Given the description of an element on the screen output the (x, y) to click on. 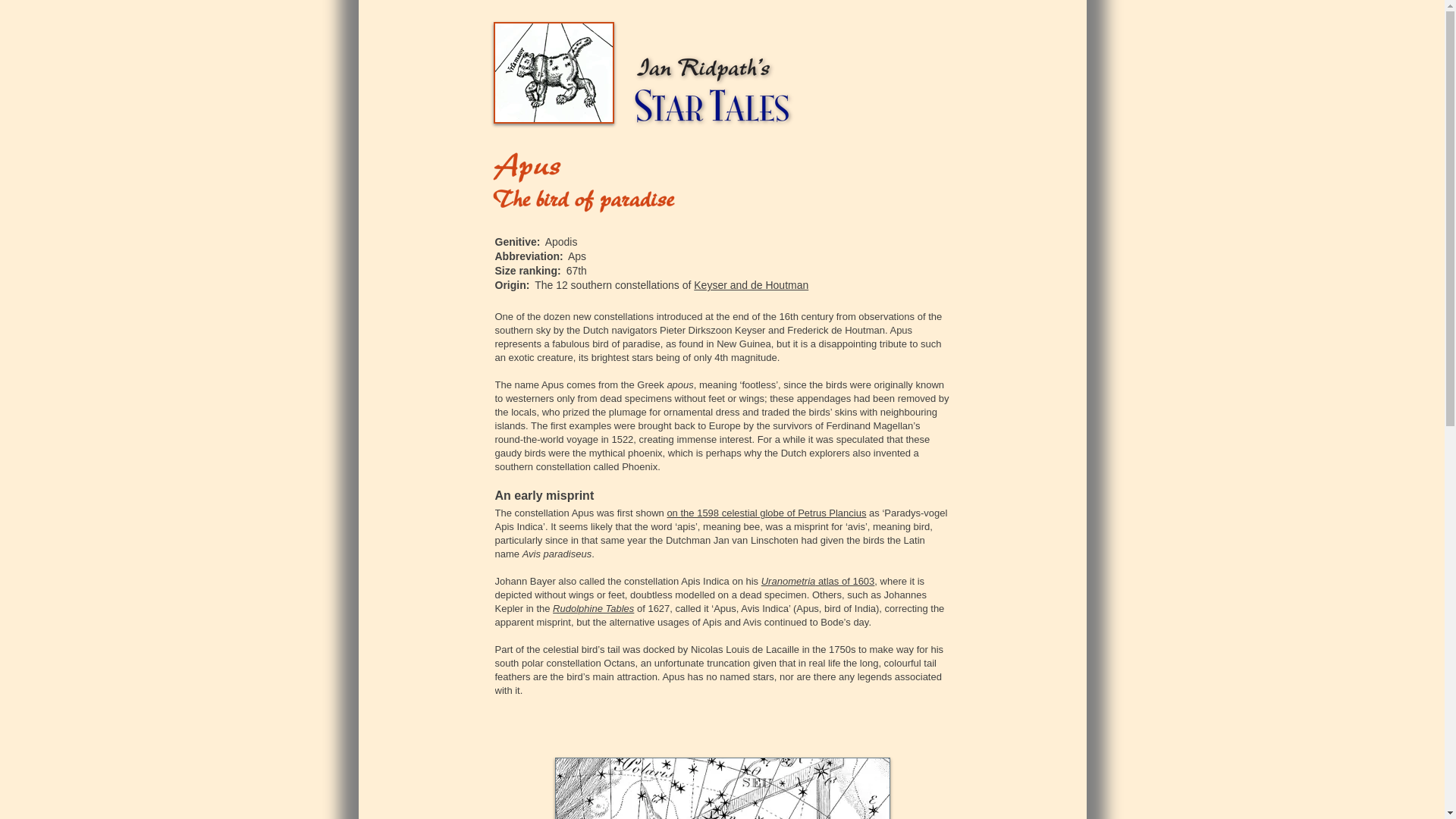
Uranometria (788, 581)
atlas of 1603 (845, 581)
on the 1598 celestial globe of Petrus Plancius (766, 512)
Keyser and de Houtman (751, 285)
Rudolphine Tables (593, 608)
Apus Bode (721, 788)
